Given the description of an element on the screen output the (x, y) to click on. 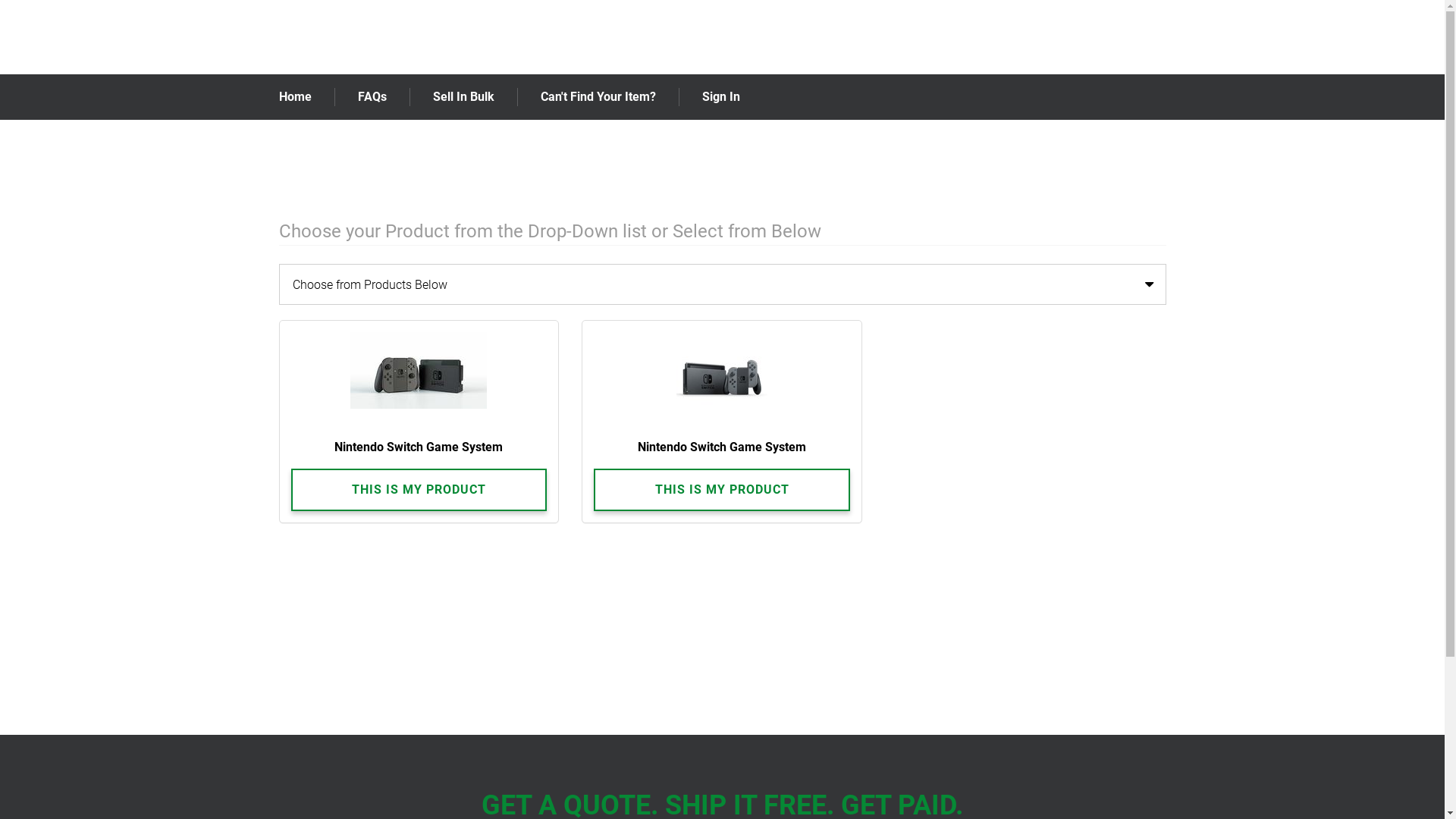
Home Element type: text (295, 96)
THIS IS MY PRODUCT Element type: text (721, 489)
Can'T Find Your Item? Element type: text (597, 96)
Nintendo Switch Game System Element type: text (721, 400)
FAQs Element type: text (371, 96)
Sell In Bulk Element type: text (462, 96)
Nintendo Switch Game System Element type: text (419, 400)
Sign In Element type: text (721, 96)
THIS IS MY PRODUCT Element type: text (419, 489)
